Given the description of an element on the screen output the (x, y) to click on. 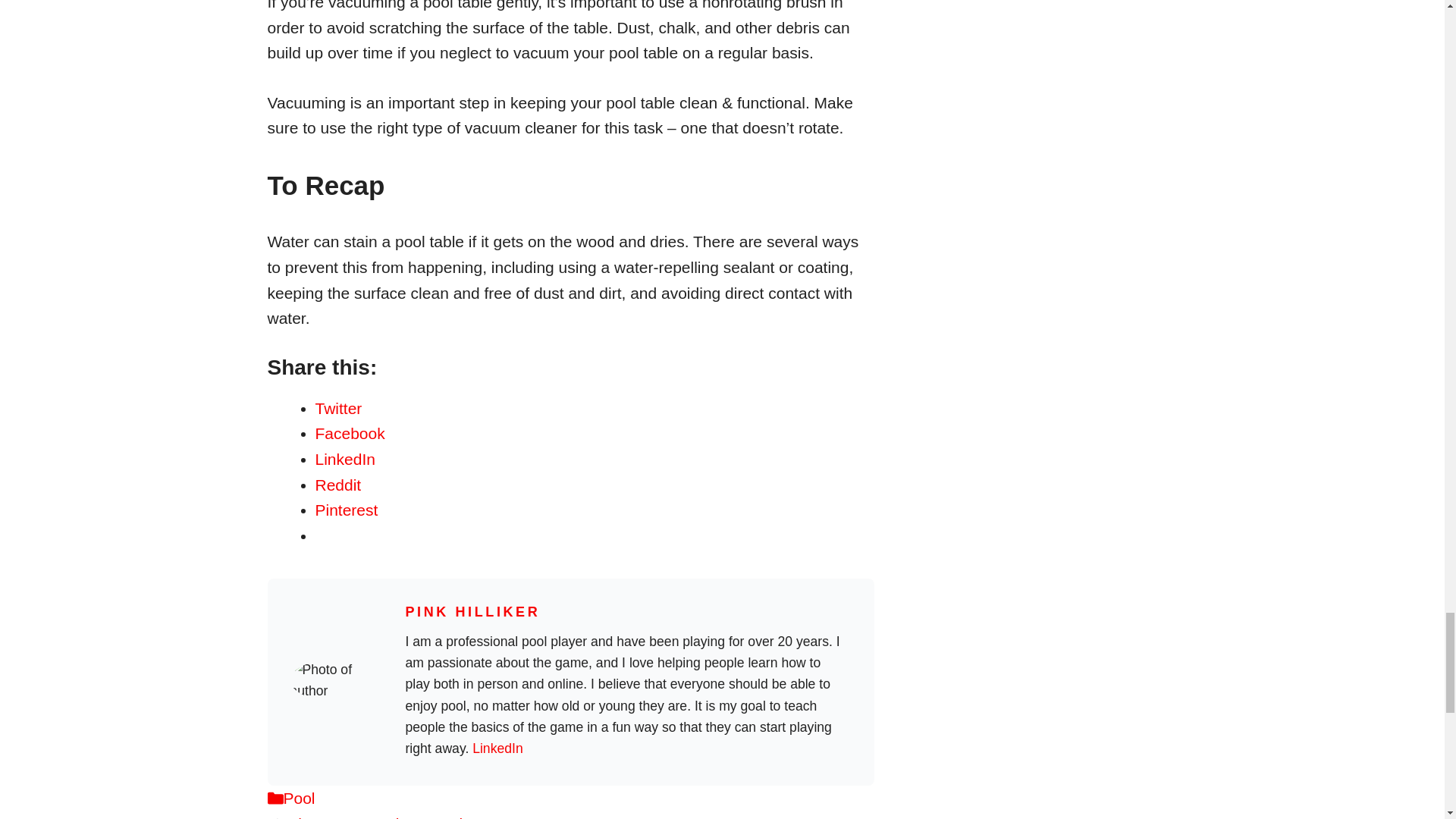
Pinterest (346, 509)
Click to share on Pinterest (346, 509)
Facebook (350, 433)
LinkedIn (345, 458)
LinkedIn (496, 748)
Click to share on Twitter (338, 407)
Click to share on Facebook (350, 433)
Reddit (338, 484)
PINK HILLIKER (472, 611)
Twitter (338, 407)
Categories (274, 797)
Click to share on LinkedIn (345, 458)
Pool (299, 797)
Click to share on Reddit (338, 484)
